Given the description of an element on the screen output the (x, y) to click on. 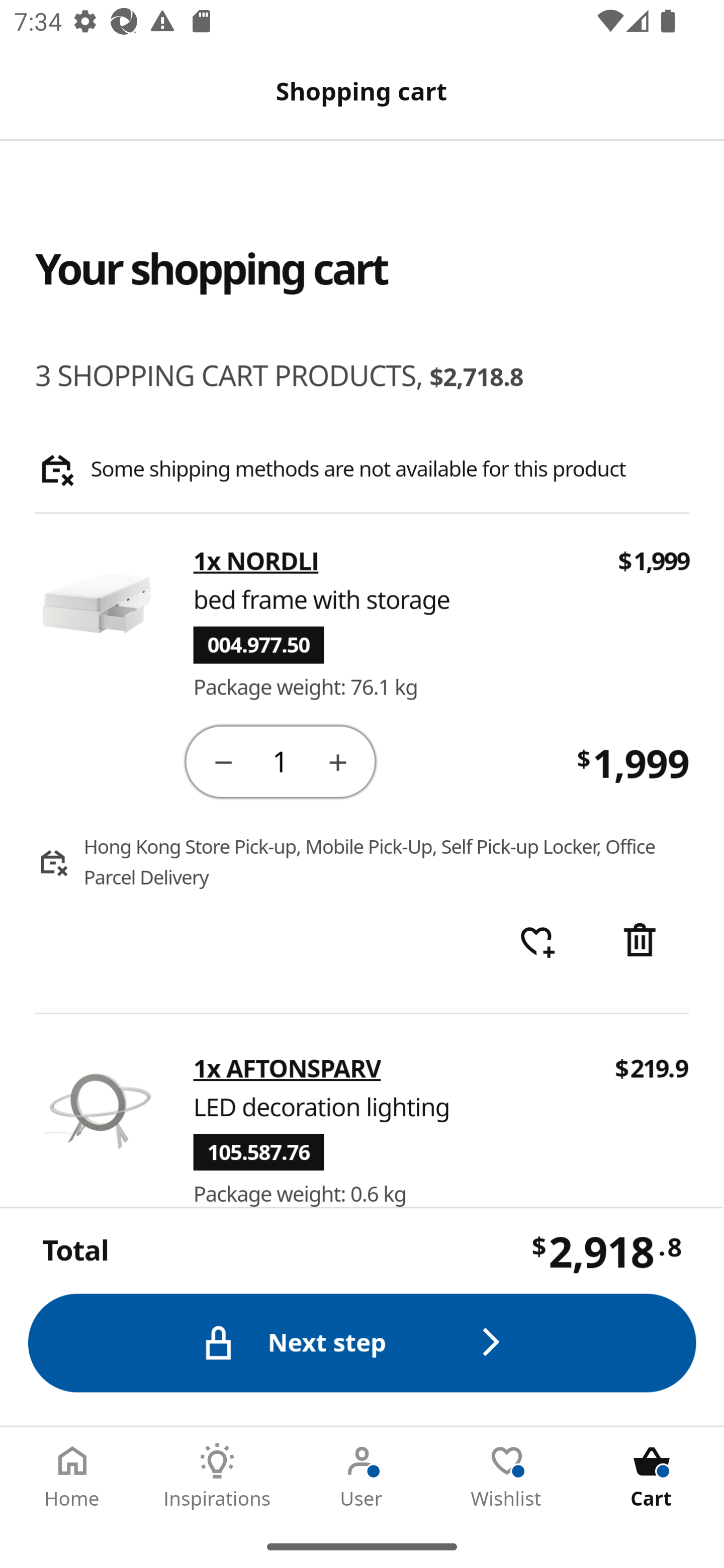
1x  NORDLI 1x  NORDLI (256, 561)
1 (281, 760)
 (223, 761)
 (338, 761)
  (536, 942)
 (641, 942)
1x  AFTONSPARV 1x  AFTONSPARV (287, 1068)
Home
Tab 1 of 5 (72, 1476)
Inspirations
Tab 2 of 5 (216, 1476)
User
Tab 3 of 5 (361, 1476)
Wishlist
Tab 4 of 5 (506, 1476)
Cart
Tab 5 of 5 (651, 1476)
